Given the description of an element on the screen output the (x, y) to click on. 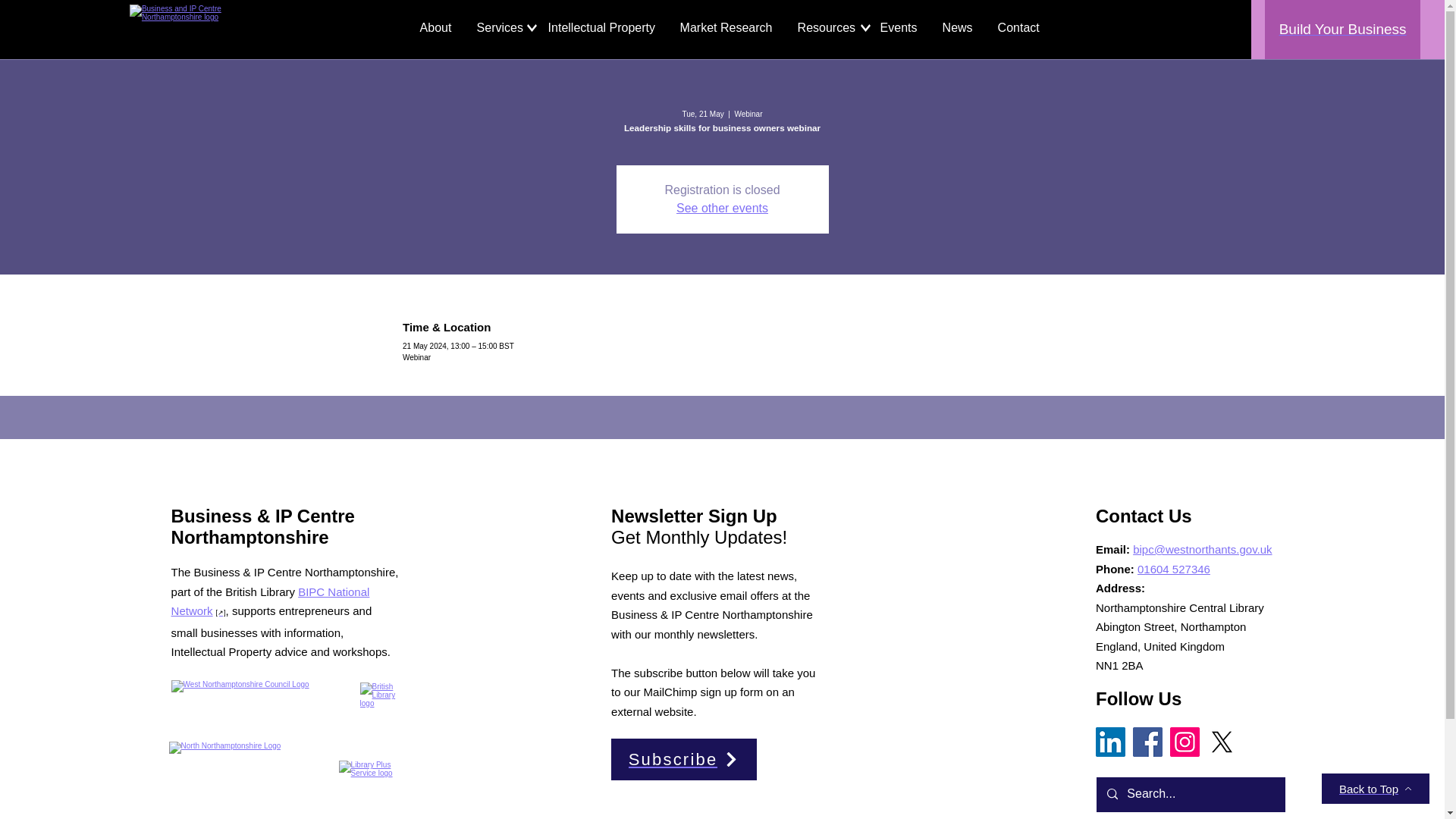
Subscribe (684, 759)
Services (501, 28)
BIPC National Network (270, 601)
01604 527346 (1173, 568)
Back to Top (1375, 788)
Market Research (727, 28)
Build Your Business (1343, 29)
Events (900, 28)
Contact (1019, 28)
Resources (827, 28)
News (959, 28)
See other events (722, 207)
About (437, 28)
Intellectual Property (602, 28)
